Given the description of an element on the screen output the (x, y) to click on. 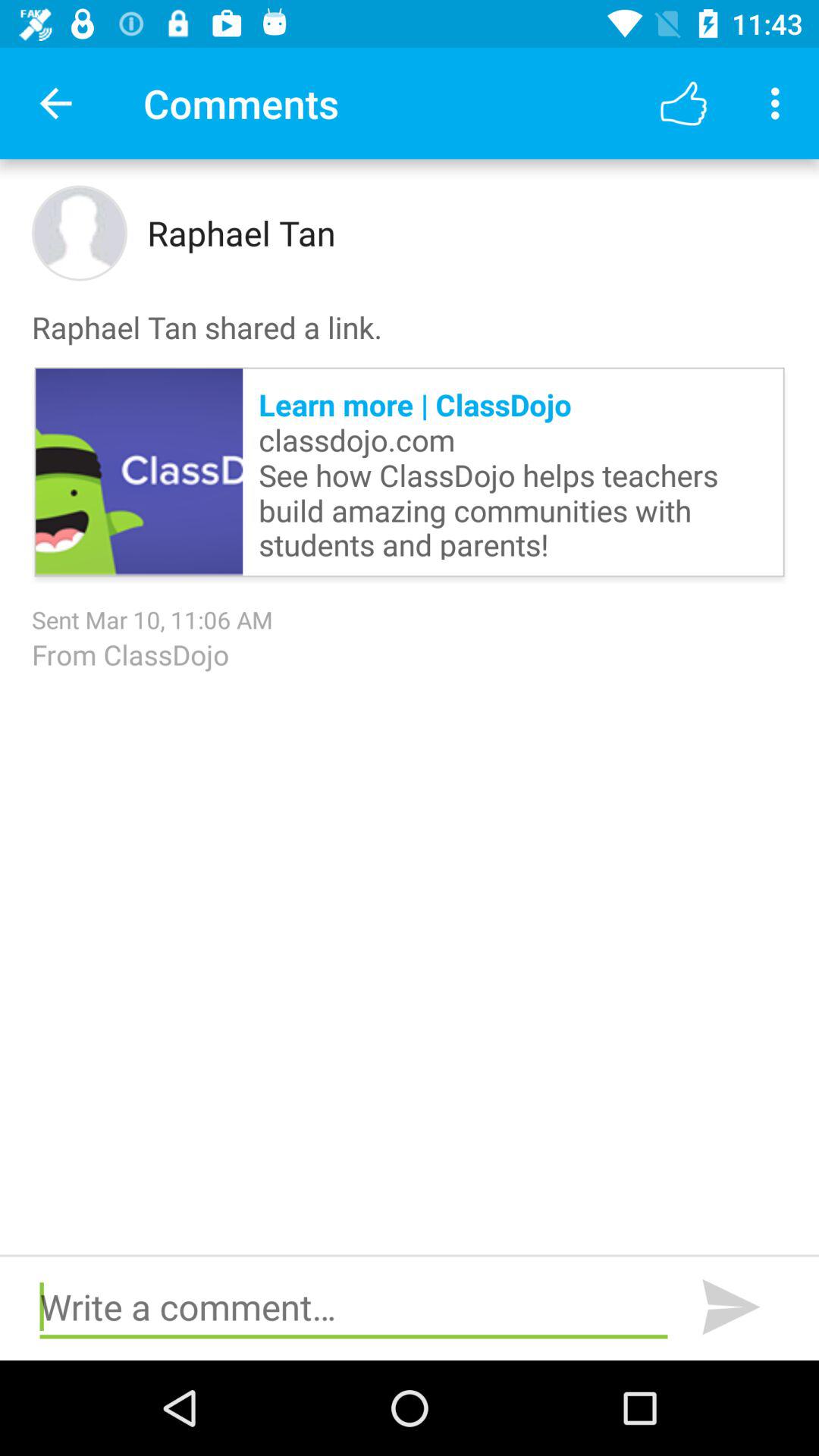
choose app next to comments icon (683, 103)
